Given the description of an element on the screen output the (x, y) to click on. 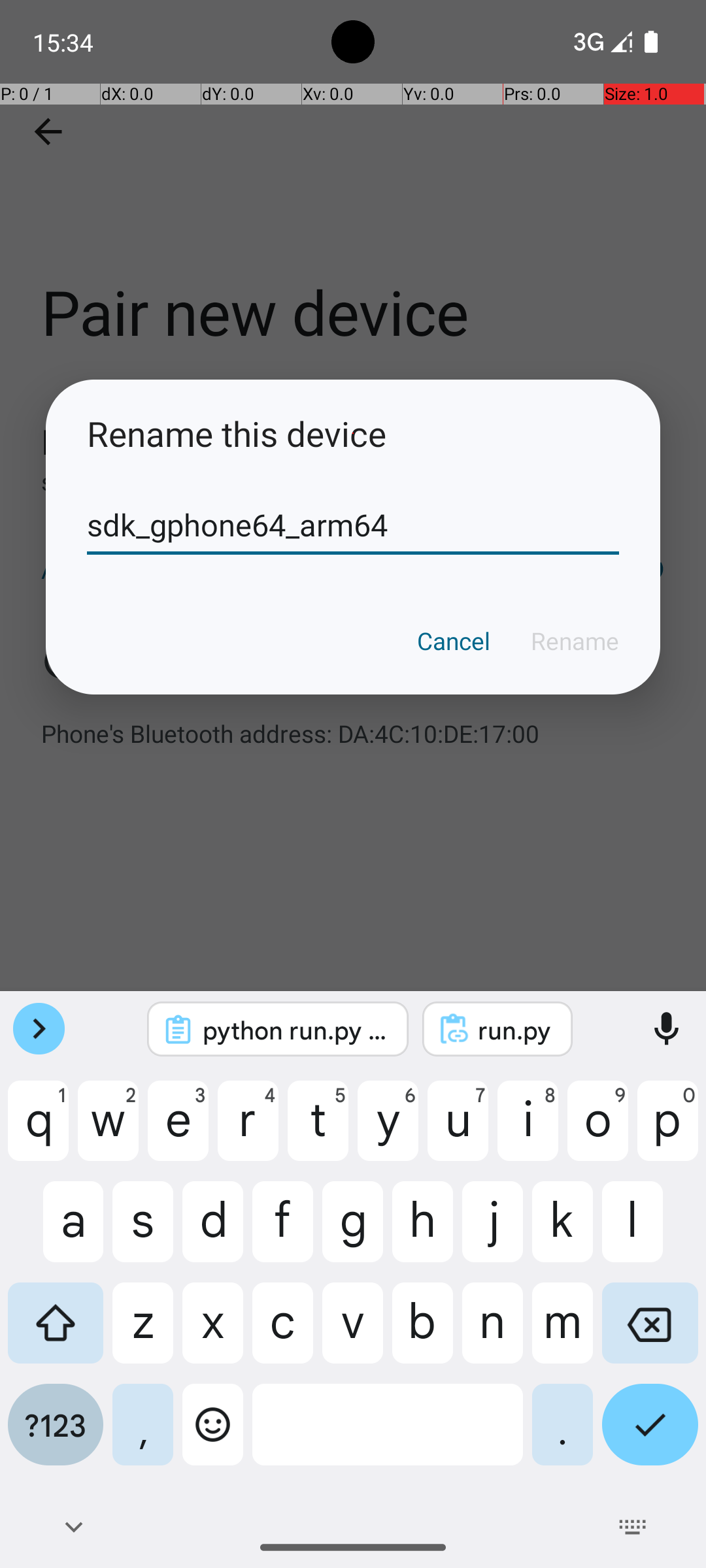
Rename this device Element type: android.widget.TextView (352, 433)
